Given the description of an element on the screen output the (x, y) to click on. 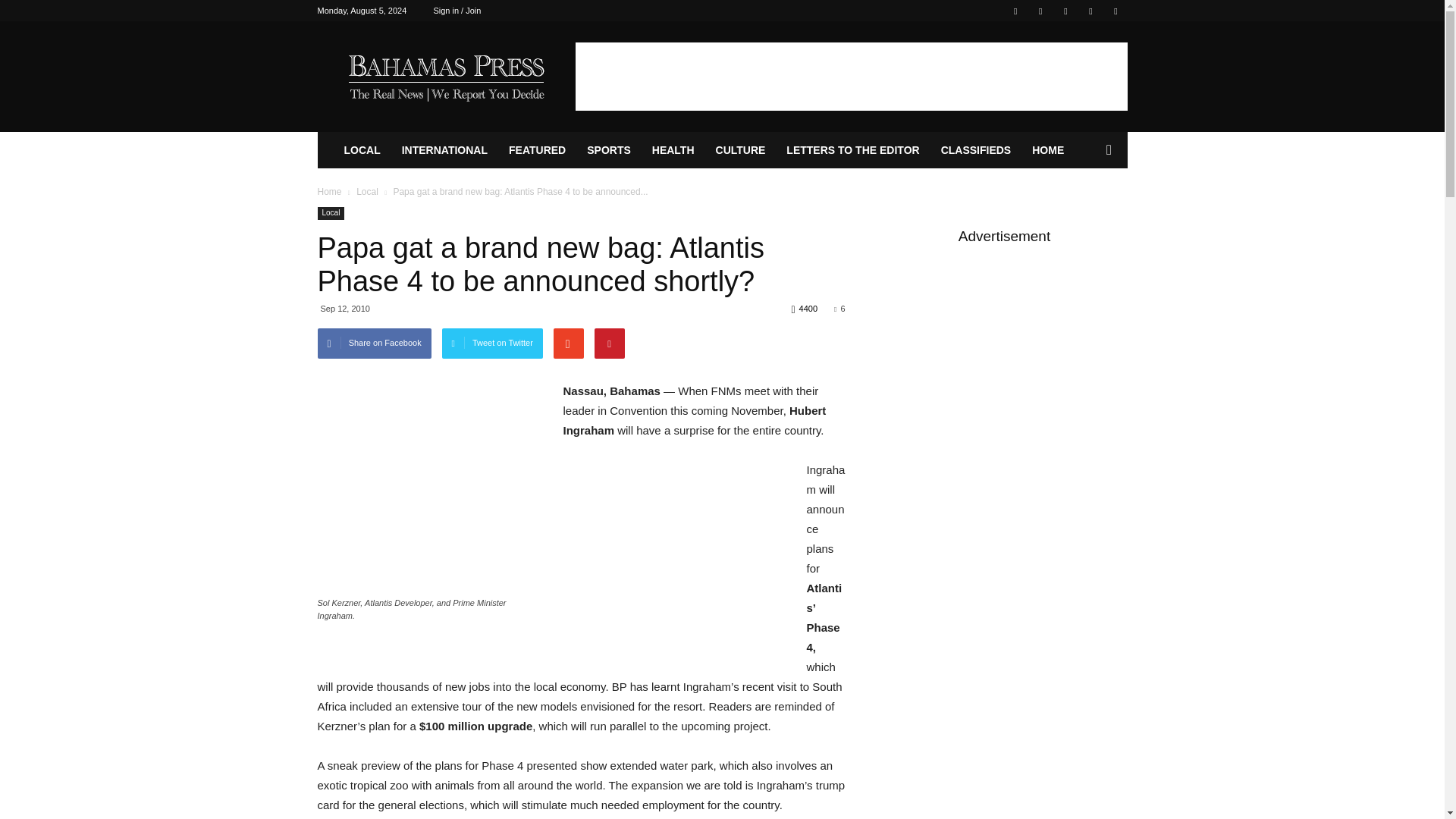
LETTERS TO THE EDITOR (853, 149)
HEALTH (673, 149)
FEATURED (536, 149)
Vimeo (1065, 10)
Facebook (1015, 10)
SPORTS (609, 149)
Advertisement (850, 76)
VKontakte (1090, 10)
Youtube (1114, 10)
INTERNATIONAL (444, 149)
CULTURE (740, 149)
View all posts in Local (367, 191)
LOCAL (362, 149)
Twitter (1040, 10)
